Given the description of an element on the screen output the (x, y) to click on. 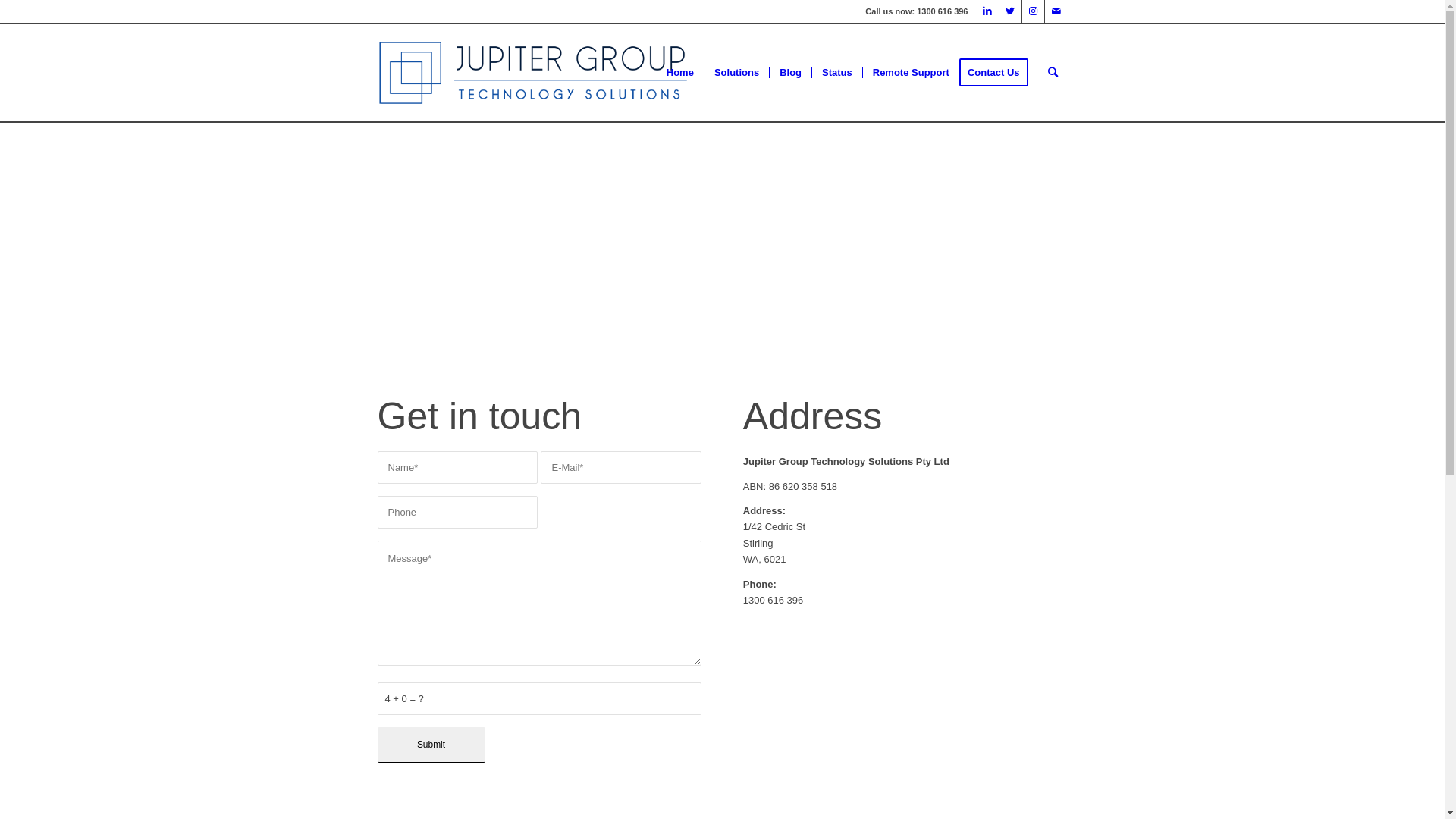
Home Element type: text (679, 72)
Submit Element type: text (431, 744)
Solutions Element type: text (735, 72)
Contact Us Element type: text (998, 72)
Blog Element type: text (789, 72)
Remote Support Element type: text (910, 72)
Status Element type: text (836, 72)
LinkedIn Element type: hover (987, 11)
Twitter Element type: hover (1010, 11)
Instagram Element type: hover (1033, 11)
Mail Element type: hover (1055, 11)
